Given the description of an element on the screen output the (x, y) to click on. 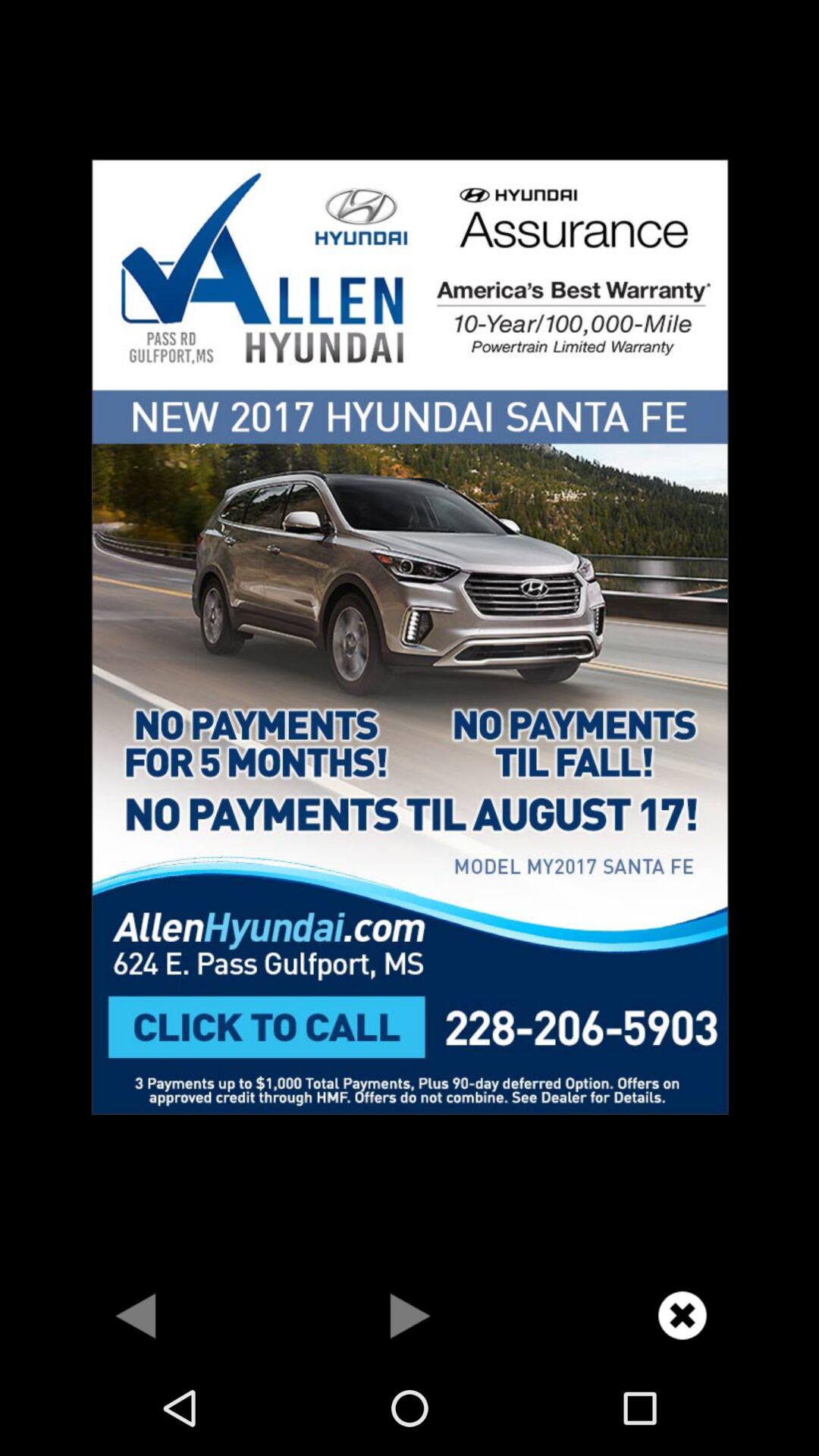
play option (409, 1315)
